Given the description of an element on the screen output the (x, y) to click on. 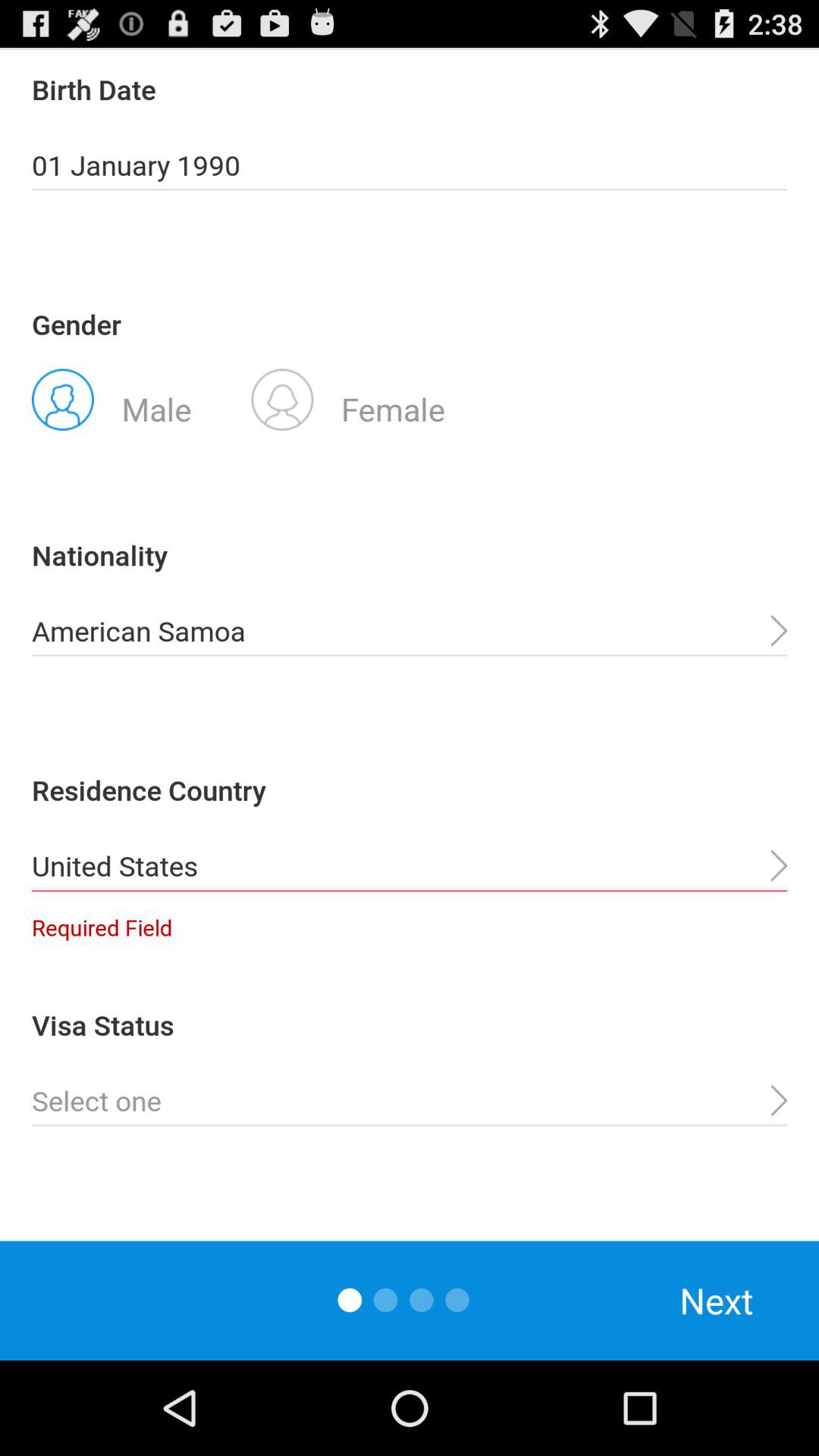
press the app above american samoa (348, 398)
